Given the description of an element on the screen output the (x, y) to click on. 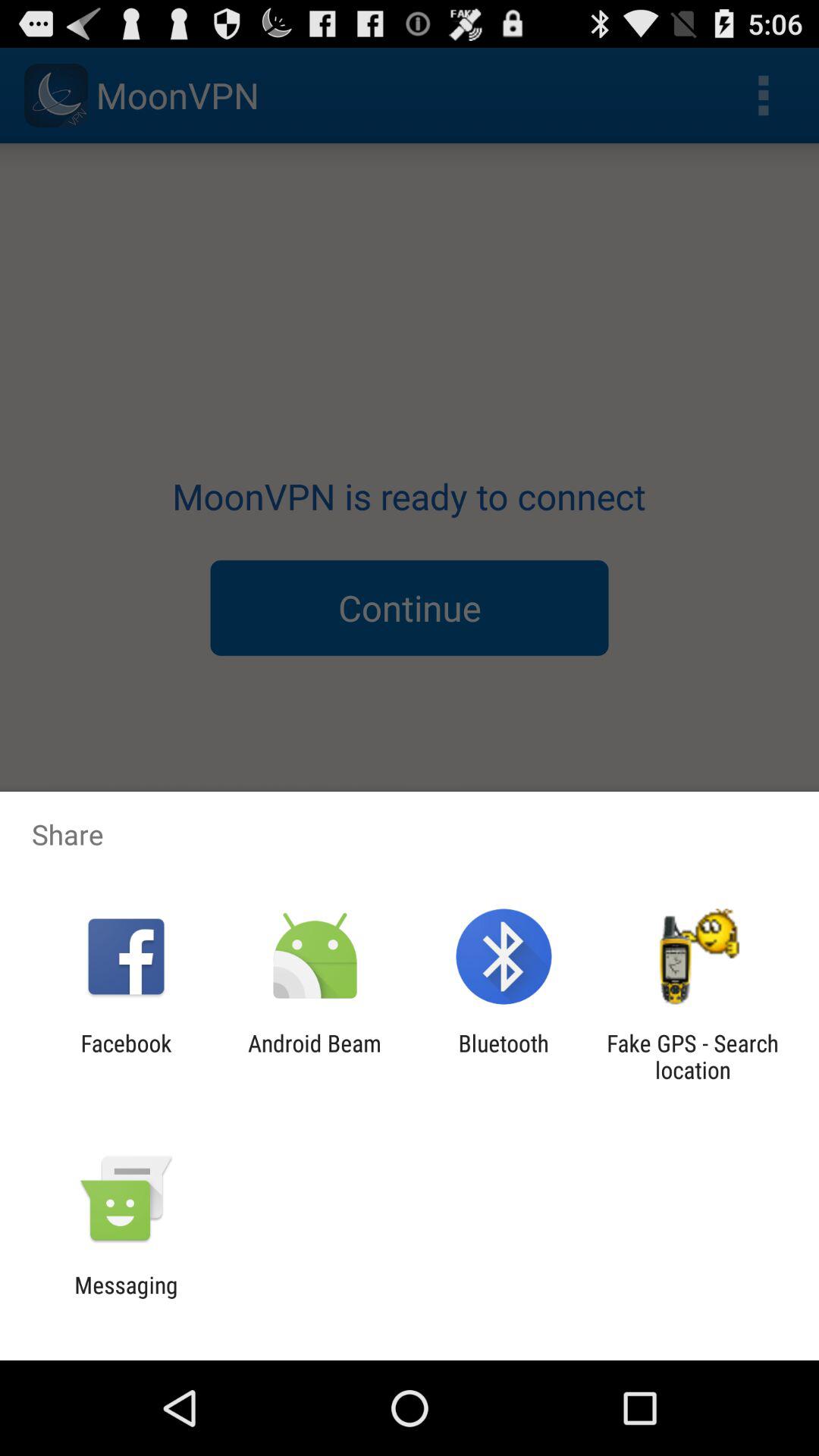
tap icon to the right of the bluetooth (692, 1056)
